Given the description of an element on the screen output the (x, y) to click on. 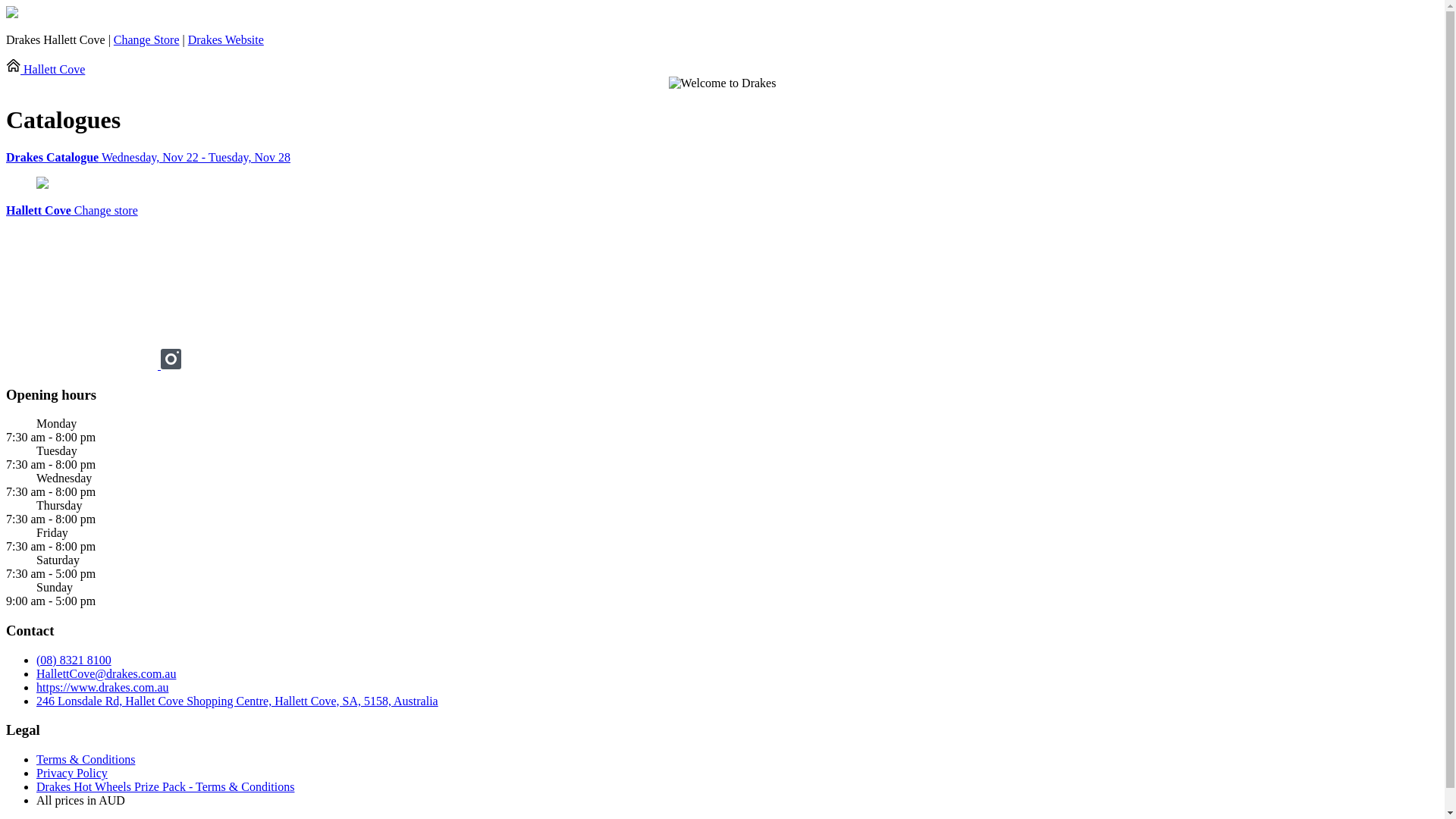
Hallett Cove Change store Element type: text (72, 209)
Privacy Policy Element type: text (71, 772)
Drakes Website Element type: text (225, 39)
Hallett Cove Element type: text (45, 68)
Terms & Conditions Element type: text (85, 759)
Change Store Element type: text (146, 39)
Facebook Element type: hover (83, 364)
Drakes Hot Wheels Prize Pack - Terms & Conditions Element type: text (165, 786)
Drakes Catalogue Wednesday, Nov 22 - Tuesday, Nov 28 Element type: text (722, 156)
HallettCove@drakes.com.au Element type: text (105, 673)
Instagram drakessupermarkets Element type: hover (170, 364)
https://www.drakes.com.au Element type: text (102, 686)
(08) 8321 8100 Element type: text (73, 659)
